Given the description of an element on the screen output the (x, y) to click on. 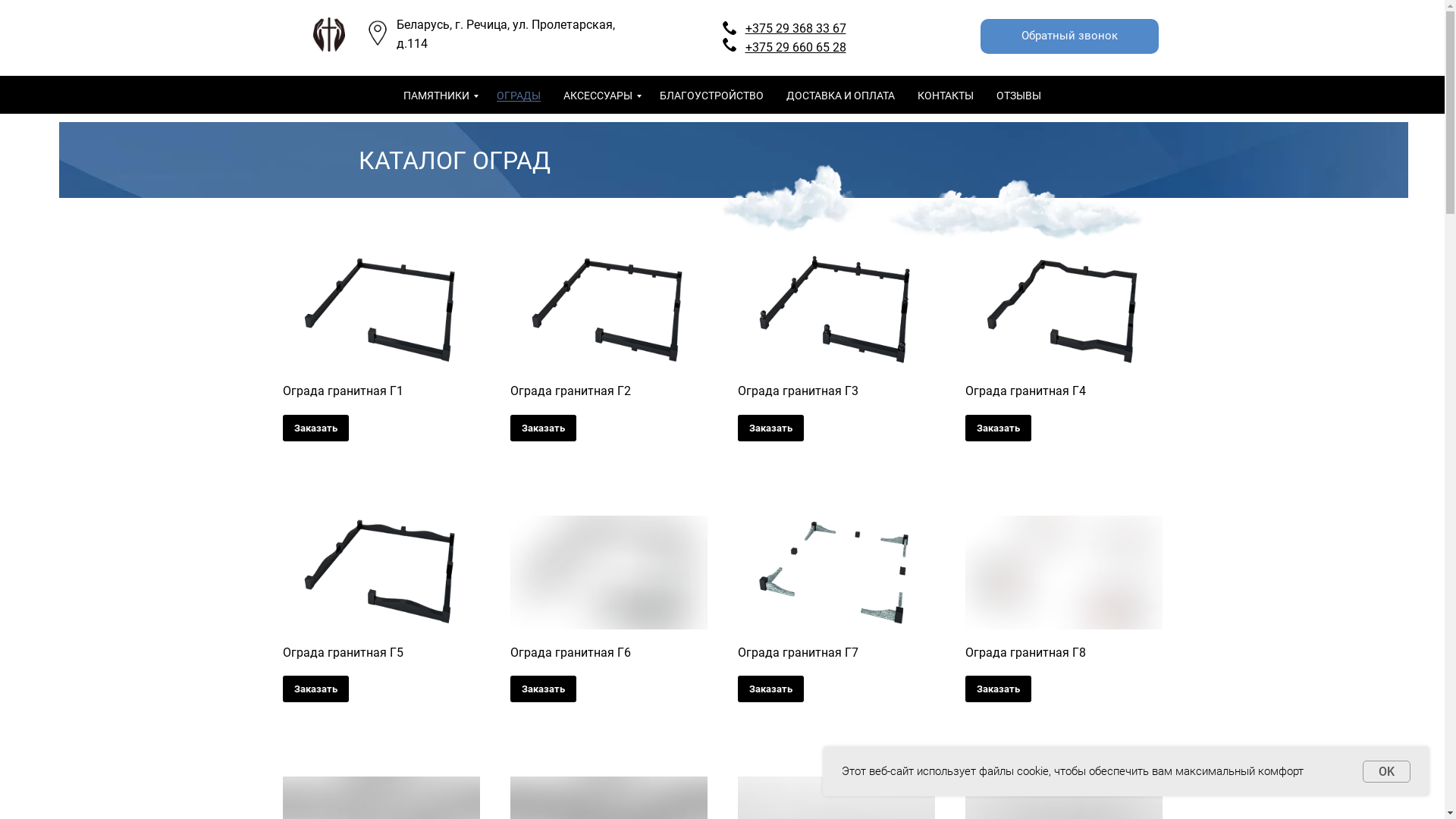
+375 29 660 65 28 Element type: text (794, 47)
+375 29 368 33 67 Element type: text (794, 28)
